Given the description of an element on the screen output the (x, y) to click on. 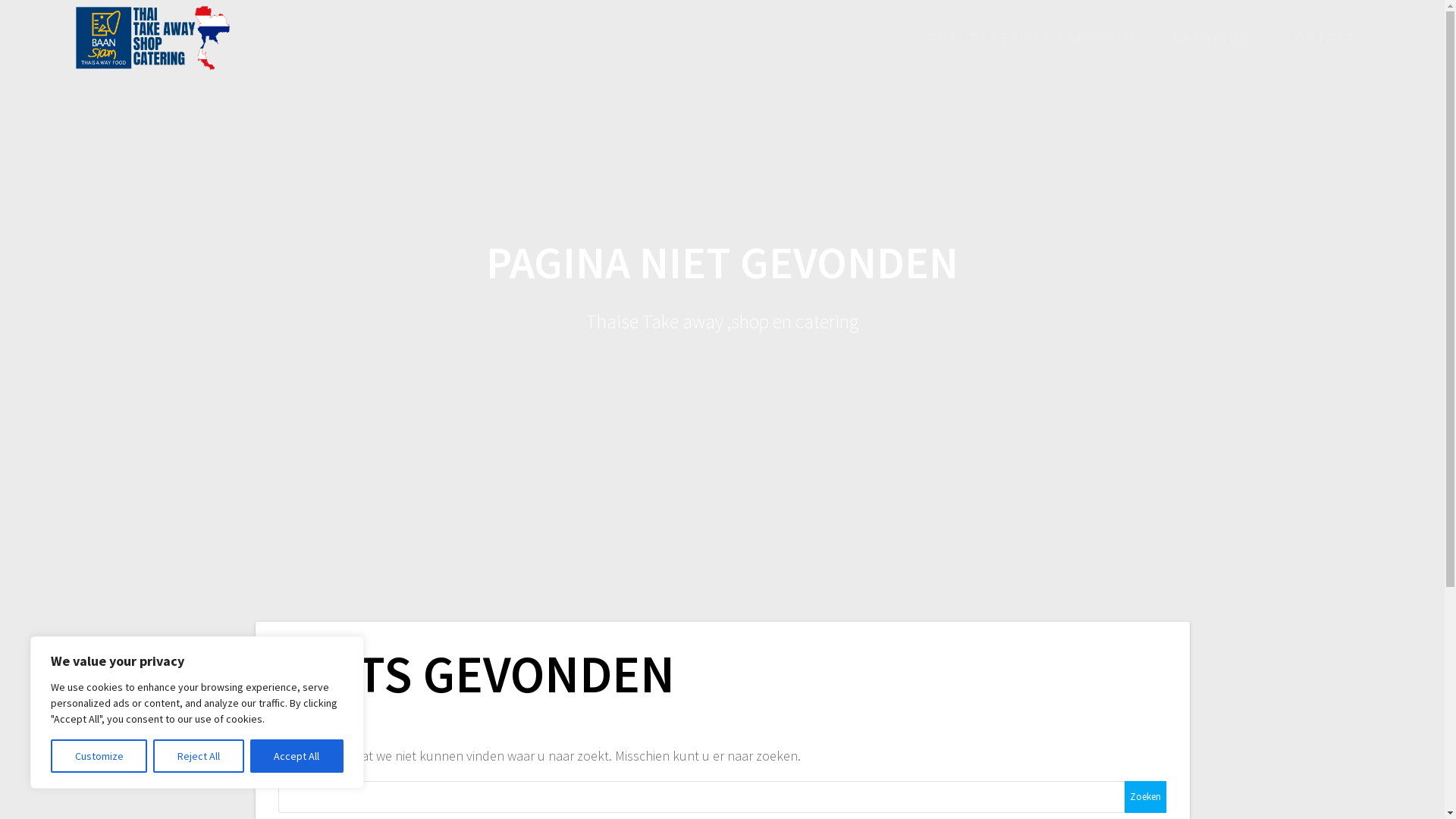
CONTACT Element type: text (1321, 37)
Reject All Element type: text (198, 755)
Accept All Element type: text (296, 755)
CATERING Element type: text (1212, 37)
Customize Element type: text (98, 755)
THAI TAKEAWAY AARSCHOT Element type: text (1032, 37)
Zoeken Element type: text (1144, 796)
